Given the description of an element on the screen output the (x, y) to click on. 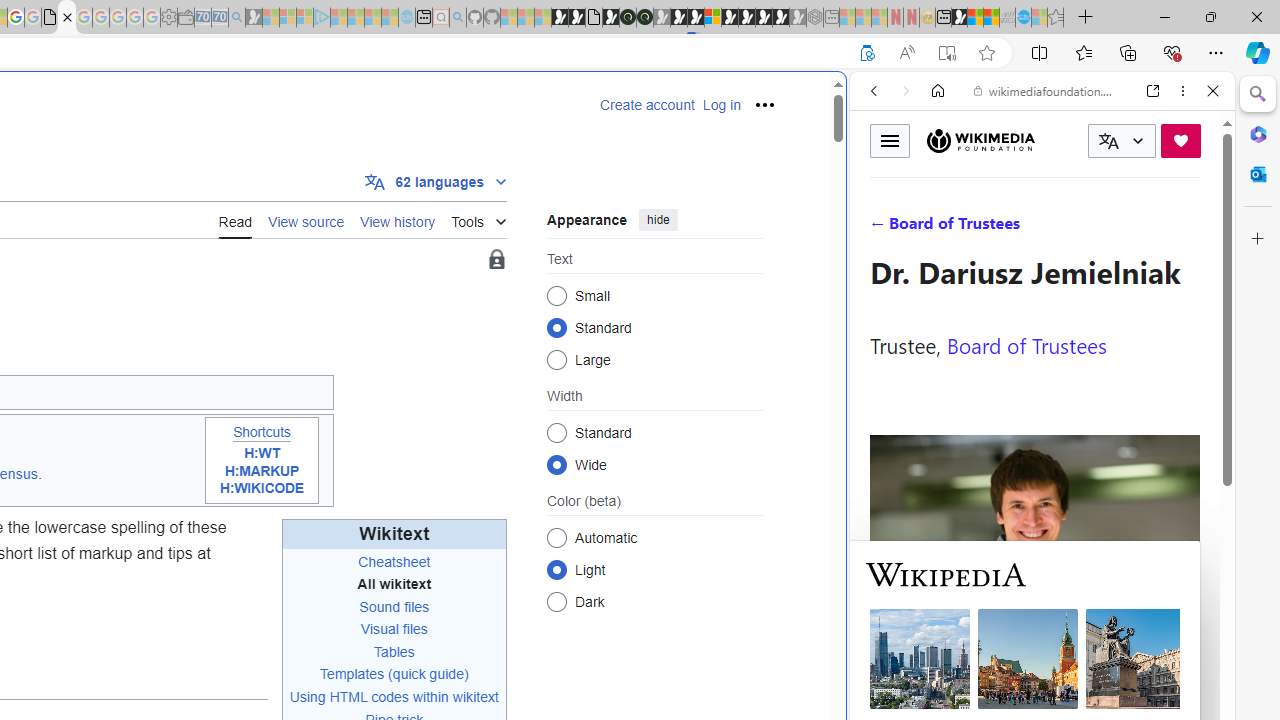
Cheatsheet (394, 561)
CURRENT LANGUAGE: (1121, 141)
Templates (352, 674)
Tabs you've opened (276, 265)
Sound files (394, 606)
Cheatsheet (394, 561)
Wikimedia Foundation (980, 140)
